Given the description of an element on the screen output the (x, y) to click on. 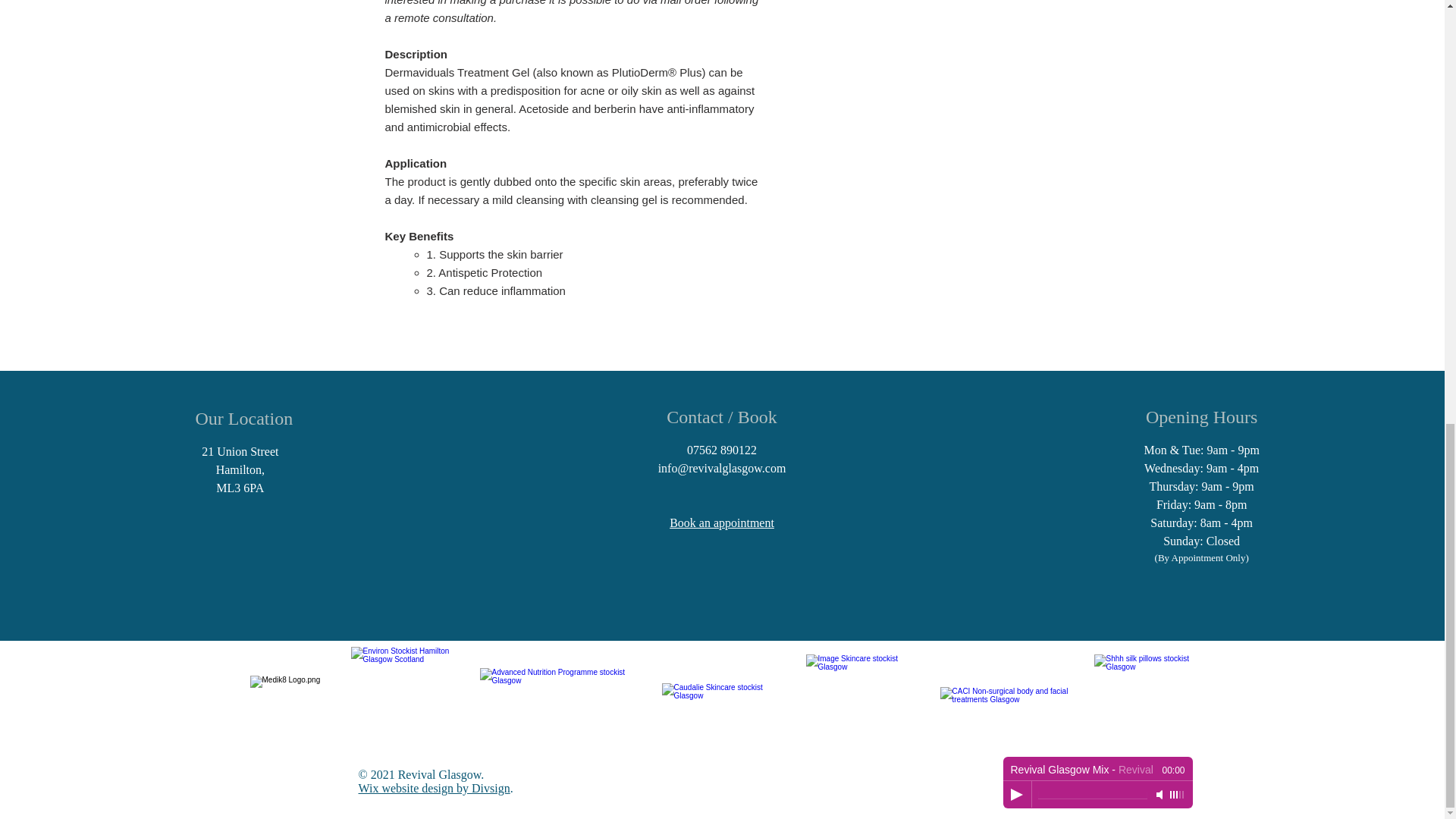
0 (1091, 795)
Shop Environ now (414, 692)
Buy Shhh silk pillows online (1143, 703)
Shop Caudalie now (718, 705)
CACI Treatments near me (1007, 705)
Shop Image Skincare now (853, 691)
Shop ANP now (554, 705)
